Given the description of an element on the screen output the (x, y) to click on. 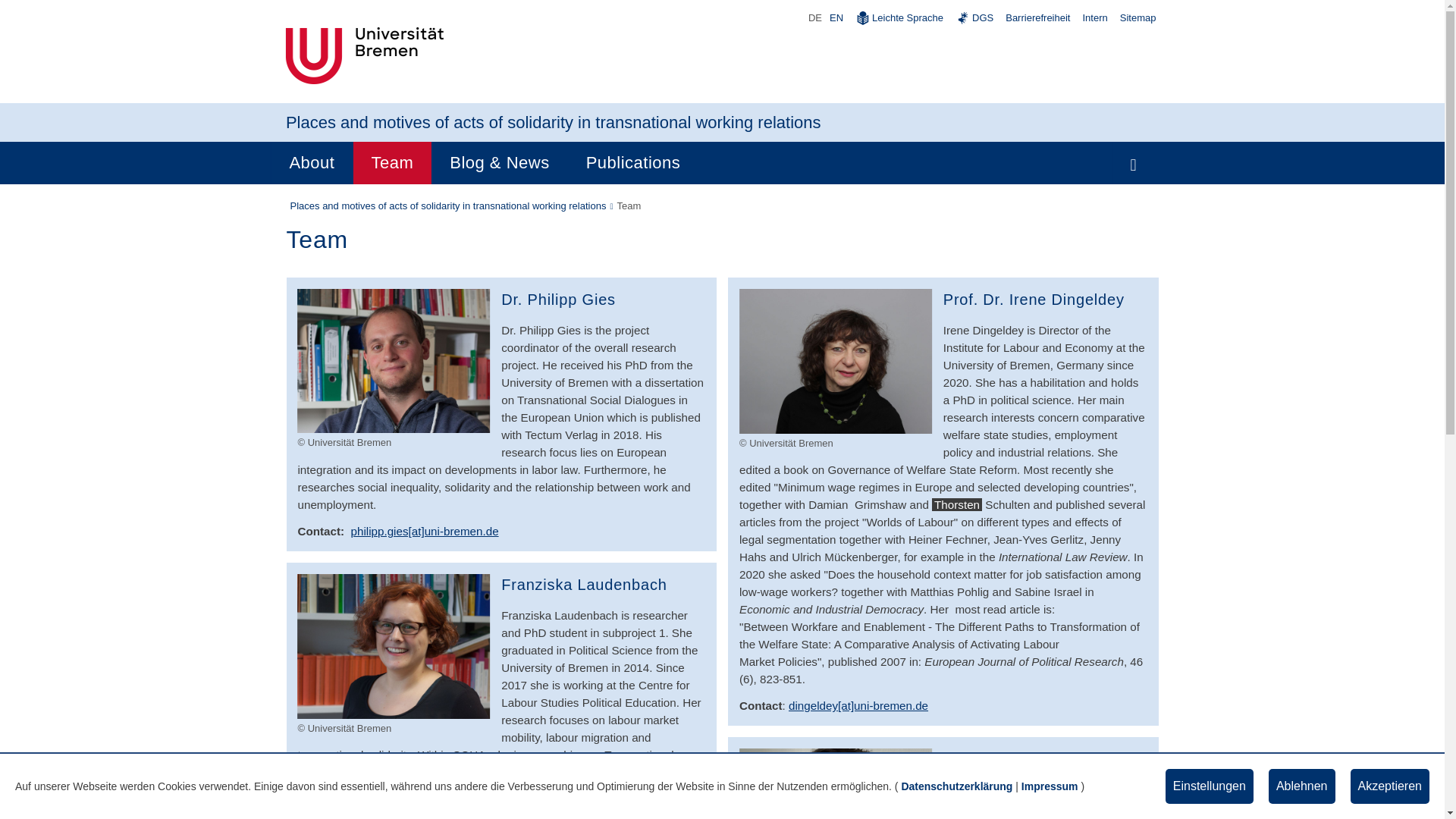
Zum Seitenende springen (1411, 785)
Leichte Sprache (899, 16)
DGS (973, 16)
Intern (1093, 16)
Team (391, 162)
Sitemap (1137, 16)
About (311, 162)
EN (834, 17)
Publications (632, 162)
Barrierefreiheit (1038, 16)
